Given the description of an element on the screen output the (x, y) to click on. 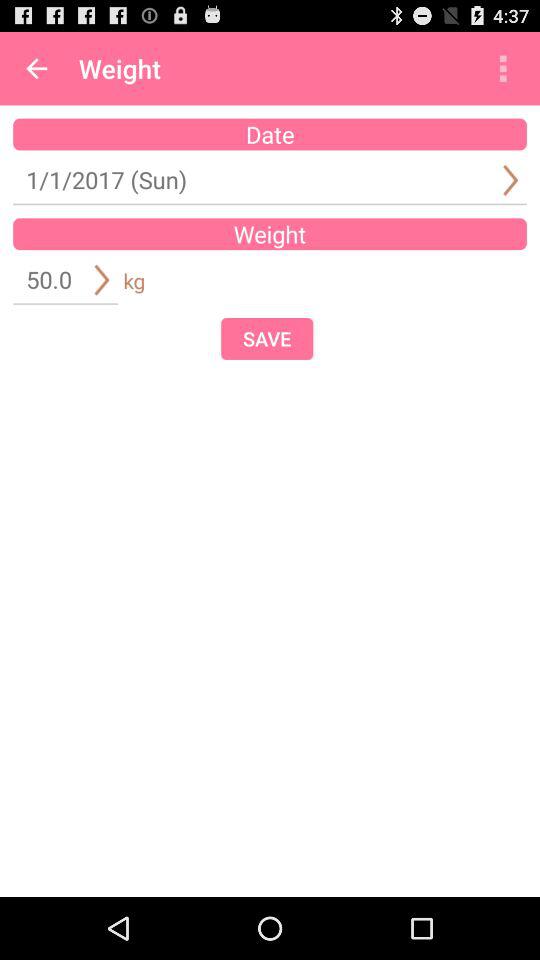
select the button which is left to kg (101, 279)
select more option which is on the top right corner of the page (503, 68)
